Given the description of an element on the screen output the (x, y) to click on. 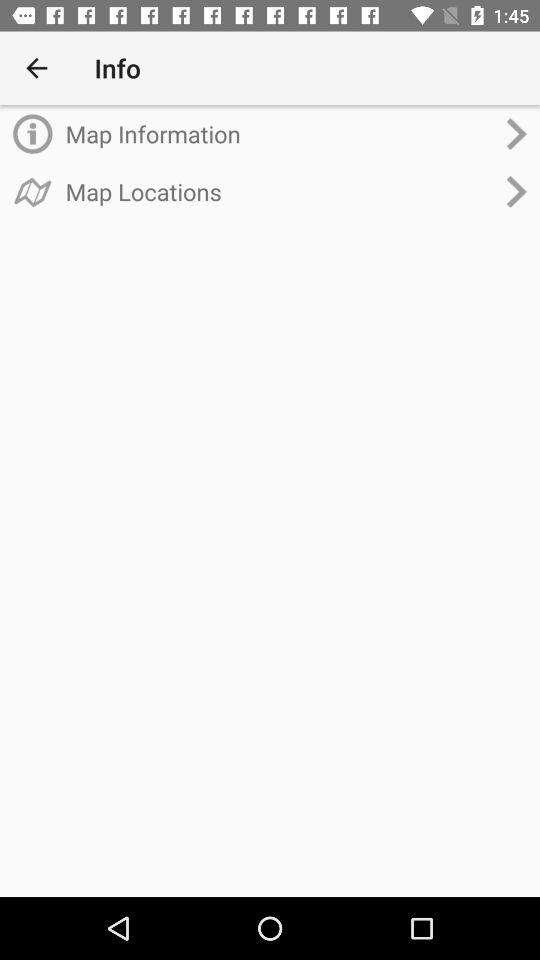
click item below the map information item (279, 191)
